Given the description of an element on the screen output the (x, y) to click on. 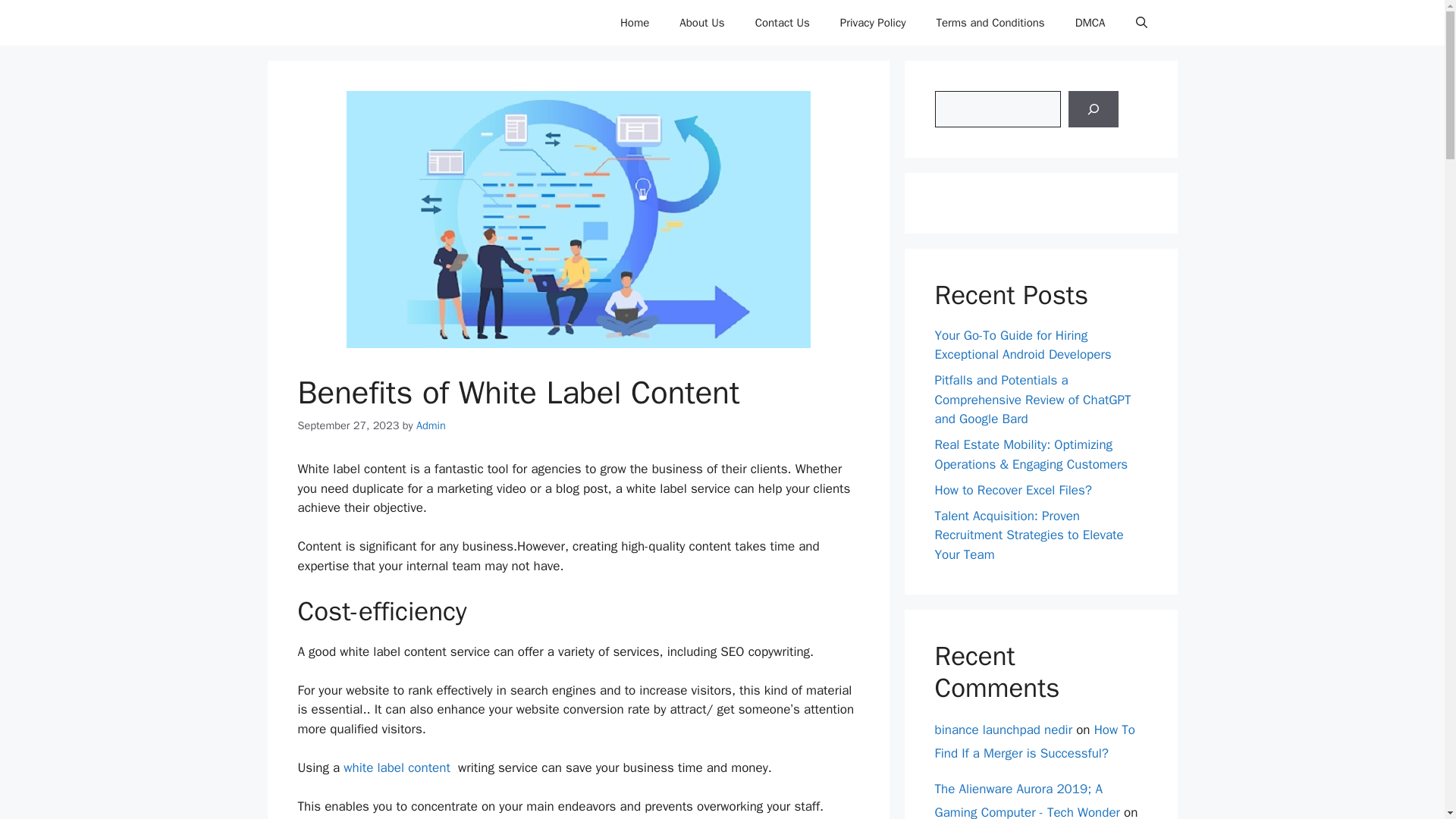
View all posts by Admin (430, 425)
Contact Us (782, 22)
How to Recover Excel Files? (1012, 489)
Your Go-To Guide for Hiring Exceptional Android Developers (1022, 345)
Terms and Conditions (989, 22)
How To Find If a Merger is Successful? (1034, 741)
Home (634, 22)
DMCA (1090, 22)
Privacy Policy (873, 22)
